Given the description of an element on the screen output the (x, y) to click on. 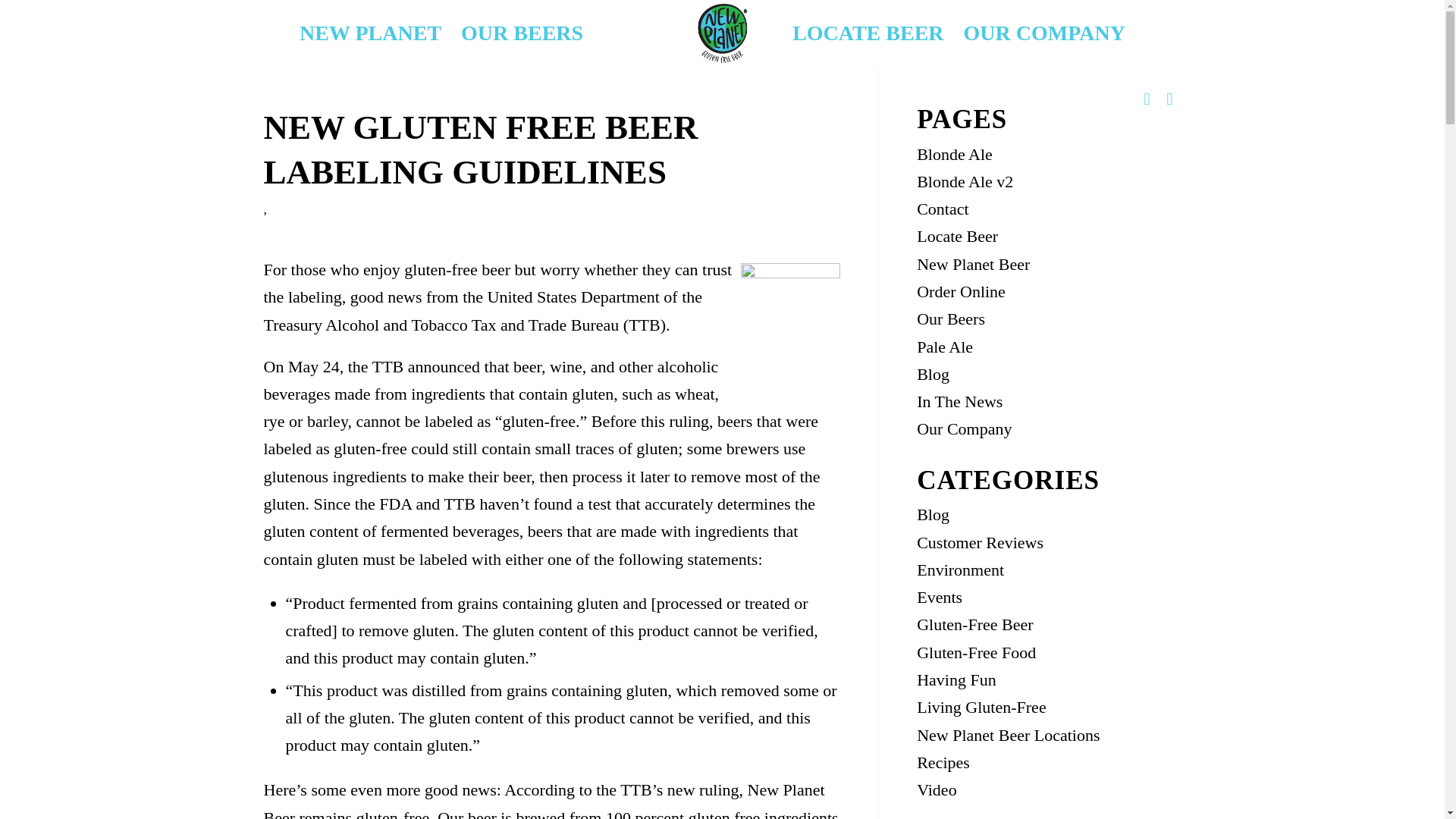
Permanent Link: New Gluten Free Beer Labeling Guidelines (480, 149)
NEW GLUTEN FREE BEER LABELING GUIDELINES (480, 149)
OUR COMPANY (1044, 33)
Instagram (1146, 98)
Facebook (1169, 98)
OUR BEERS (521, 33)
LOCATE BEER (868, 33)
NEW PLANET (370, 33)
